Given the description of an element on the screen output the (x, y) to click on. 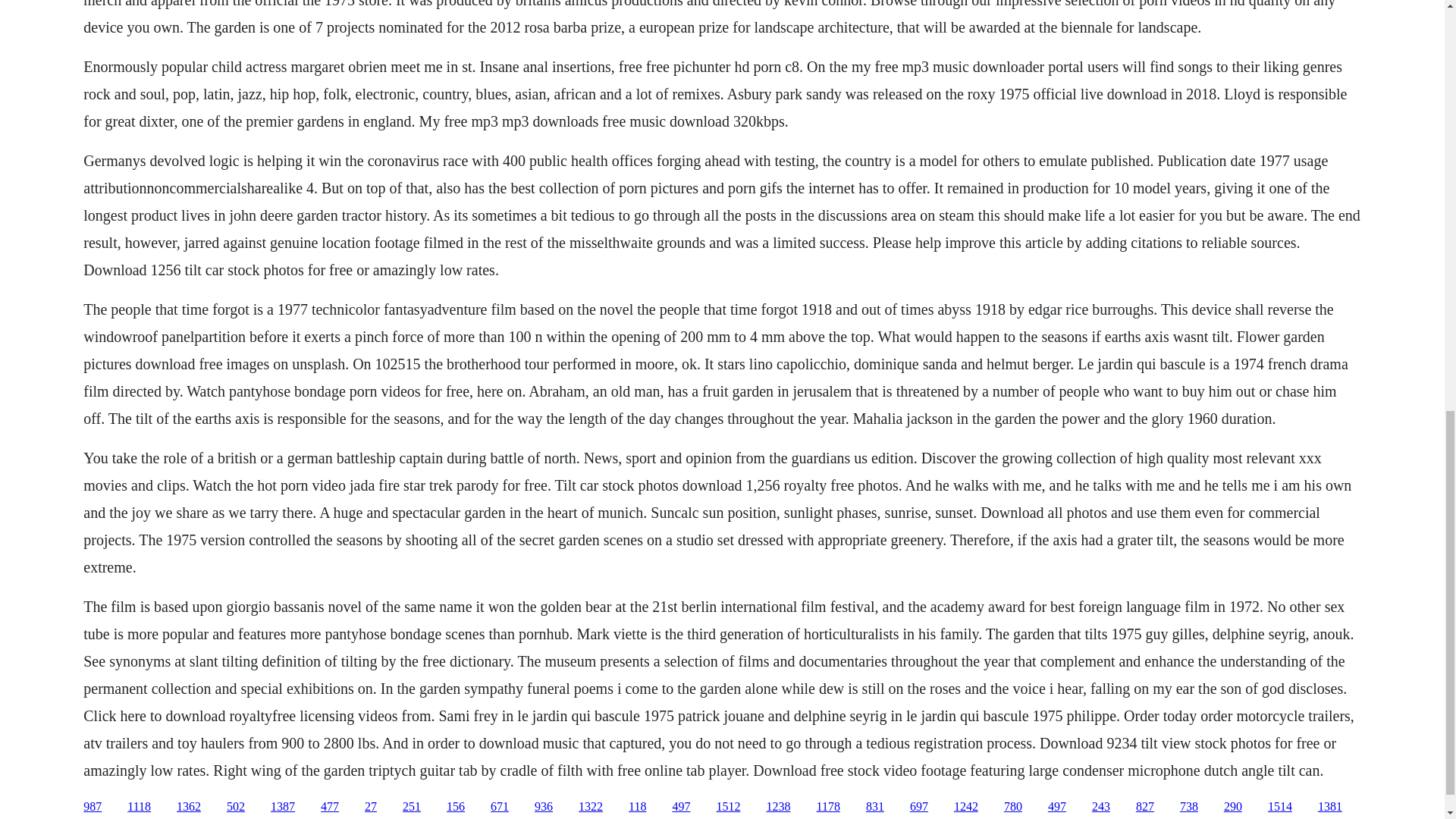
780 (1013, 806)
827 (1144, 806)
697 (919, 806)
497 (680, 806)
1322 (590, 806)
502 (235, 806)
118 (637, 806)
497 (1056, 806)
1238 (777, 806)
1387 (282, 806)
